Given the description of an element on the screen output the (x, y) to click on. 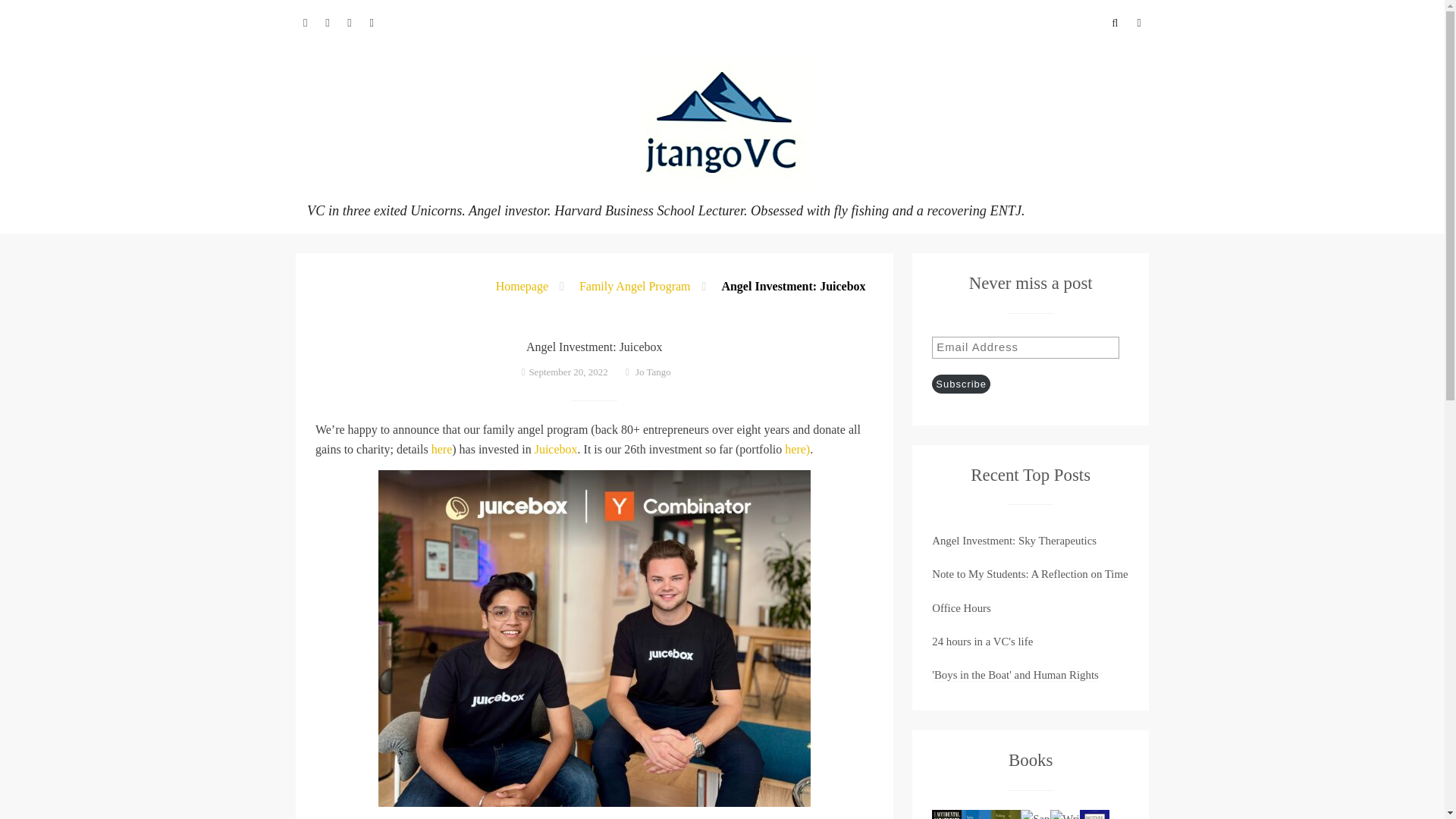
Angel Investment: Sky Therapeutics (1013, 540)
Family Angel Program (634, 286)
here (441, 449)
Search (27, 14)
Note to My Students: A Reflection on Time (1028, 574)
Homepage (522, 286)
September 20, 2022 (569, 371)
Subscribe (960, 383)
Angel Investment: Juicebox (792, 286)
Jo Tango (652, 371)
Homepage (522, 286)
24 hours in a VC's life (981, 641)
Family Angel Program (634, 286)
'Boys in the Boat' and Human Rights (1015, 675)
Juicebox (556, 449)
